Given the description of an element on the screen output the (x, y) to click on. 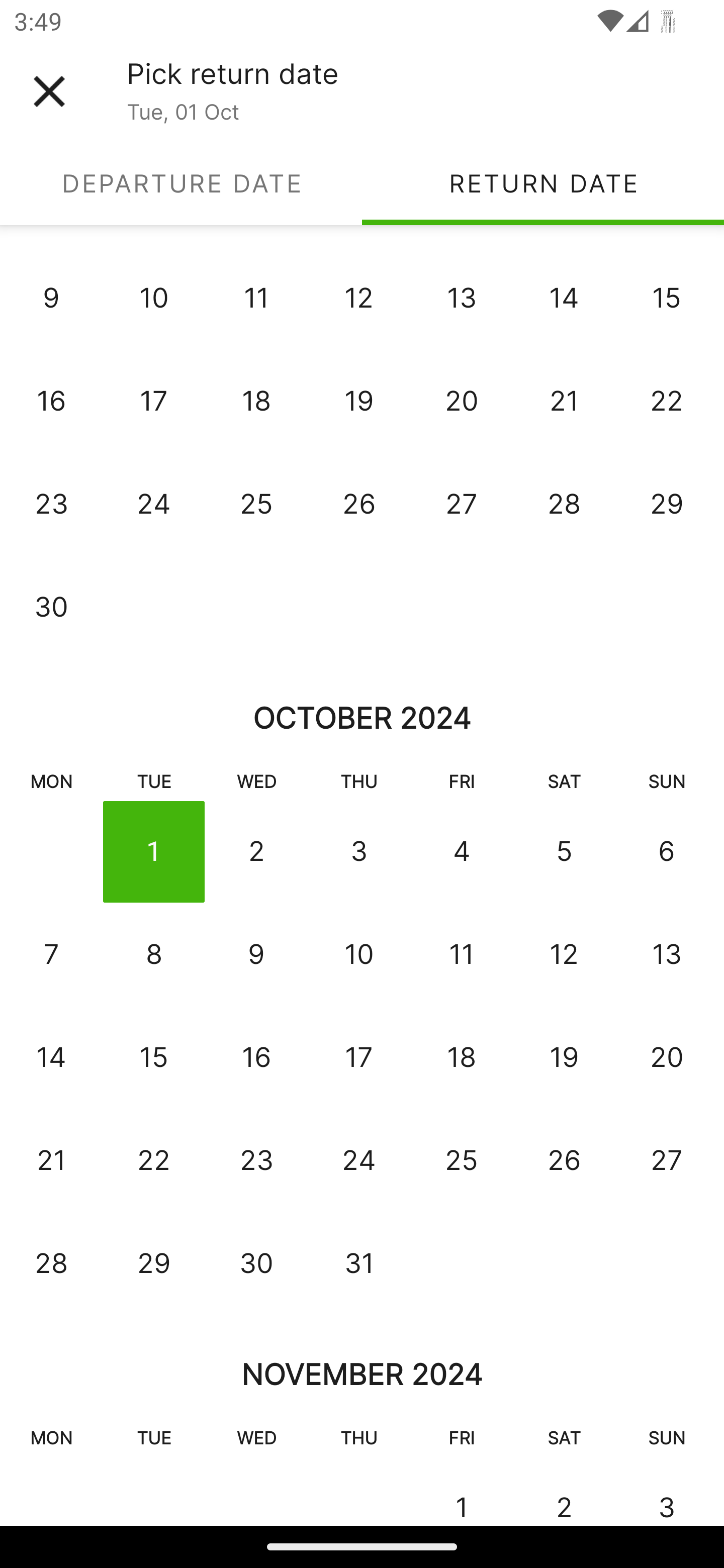
Departure Date DEPARTURE DATE (181, 183)
